Given the description of an element on the screen output the (x, y) to click on. 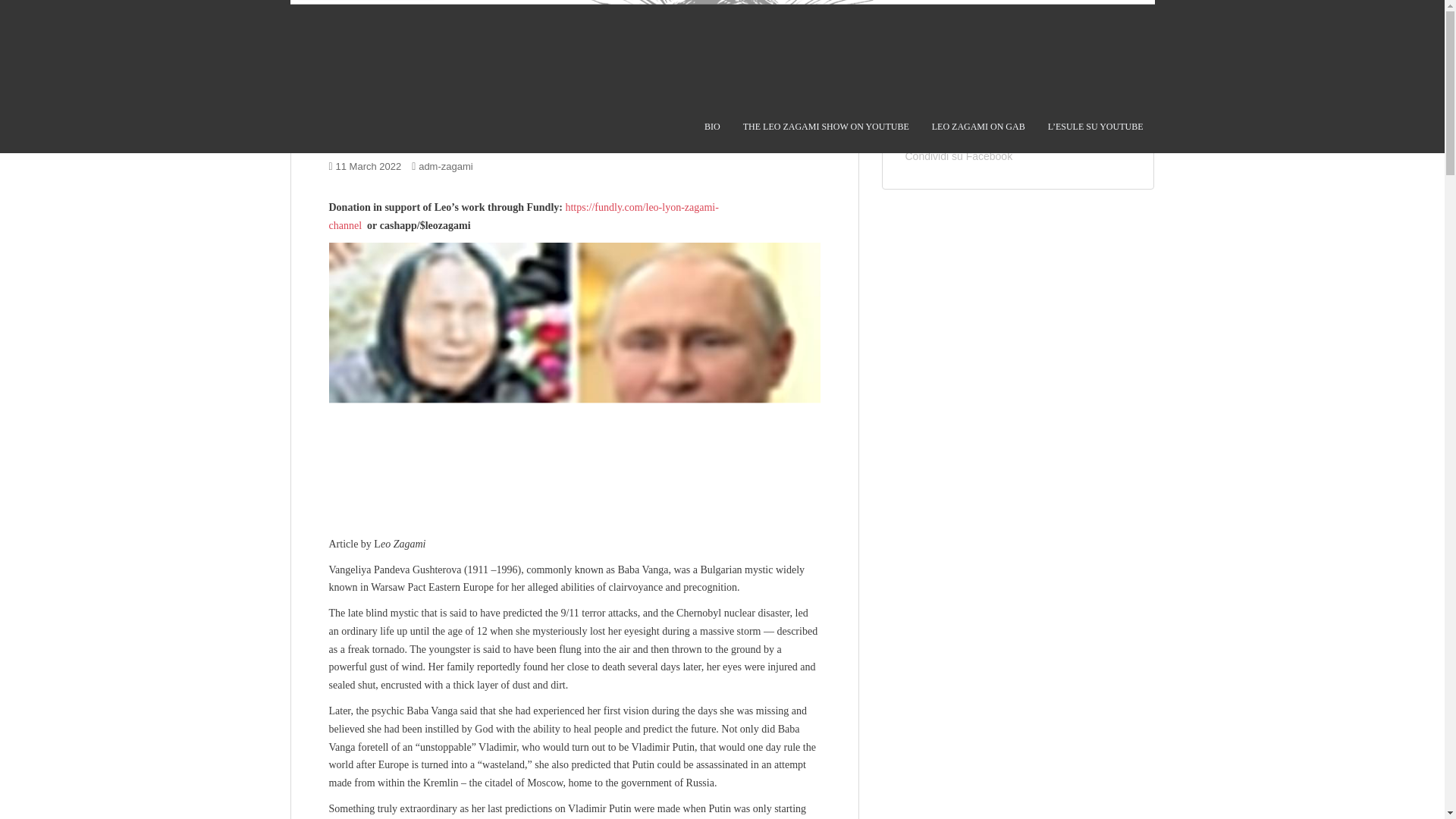
11 March 2022 (368, 165)
Search for: (1006, 66)
THE LEO ZAGAMI SHOW ON YOUTUBE (825, 126)
Search (1118, 66)
adm-zagami (446, 165)
THE LEO ZAGAMI SHOW (825, 126)
LEO ZAGAMI ON GAB (978, 126)
Condividi su Facebook (959, 155)
